Given the description of an element on the screen output the (x, y) to click on. 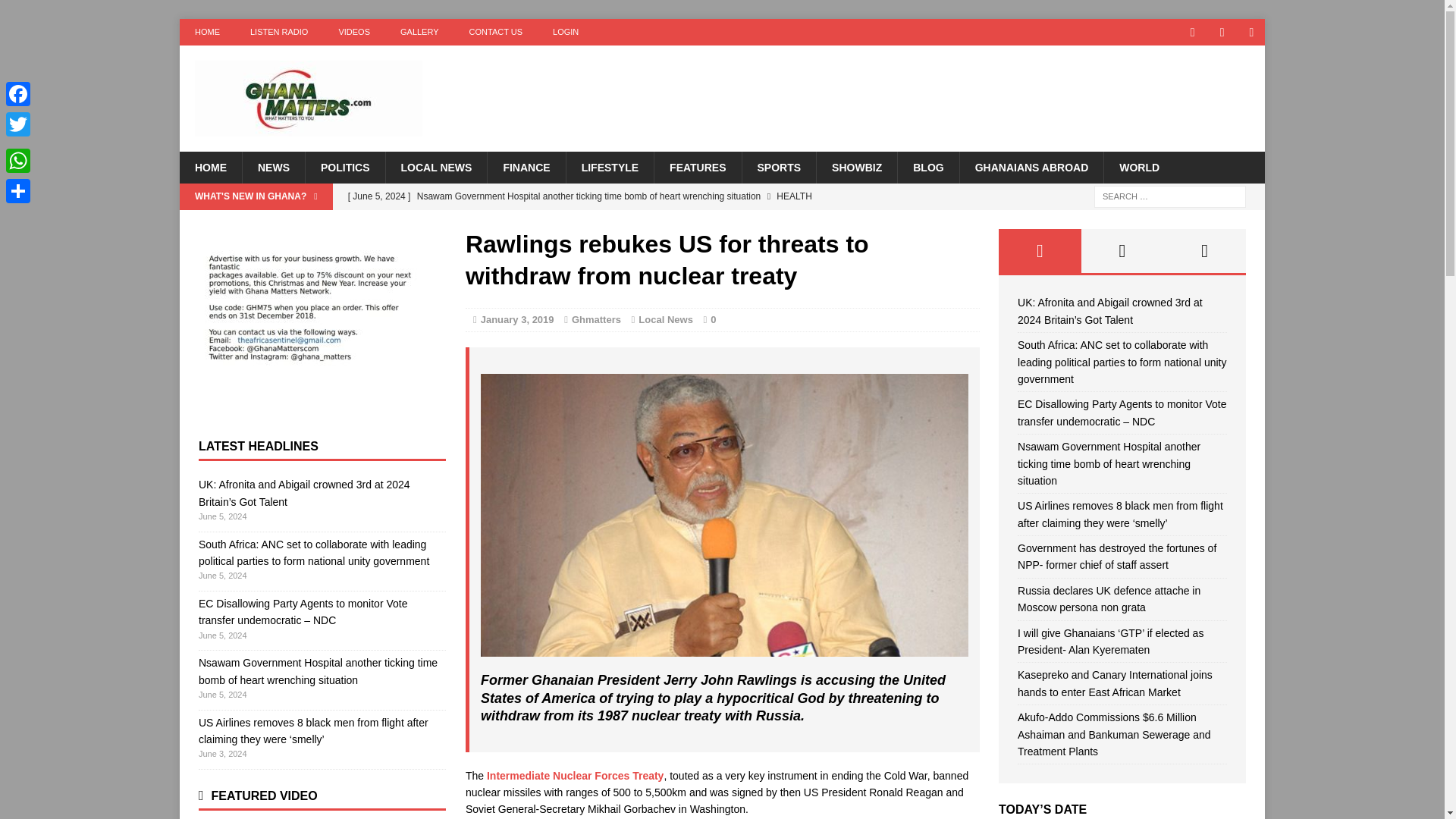
LISTEN RADIO (278, 31)
HOME (206, 31)
GhanaMatters (350, 98)
0 (713, 319)
GALLERY (419, 31)
LOGIN (565, 31)
VIDEOS (354, 31)
CONTACT US (496, 31)
